Given the description of an element on the screen output the (x, y) to click on. 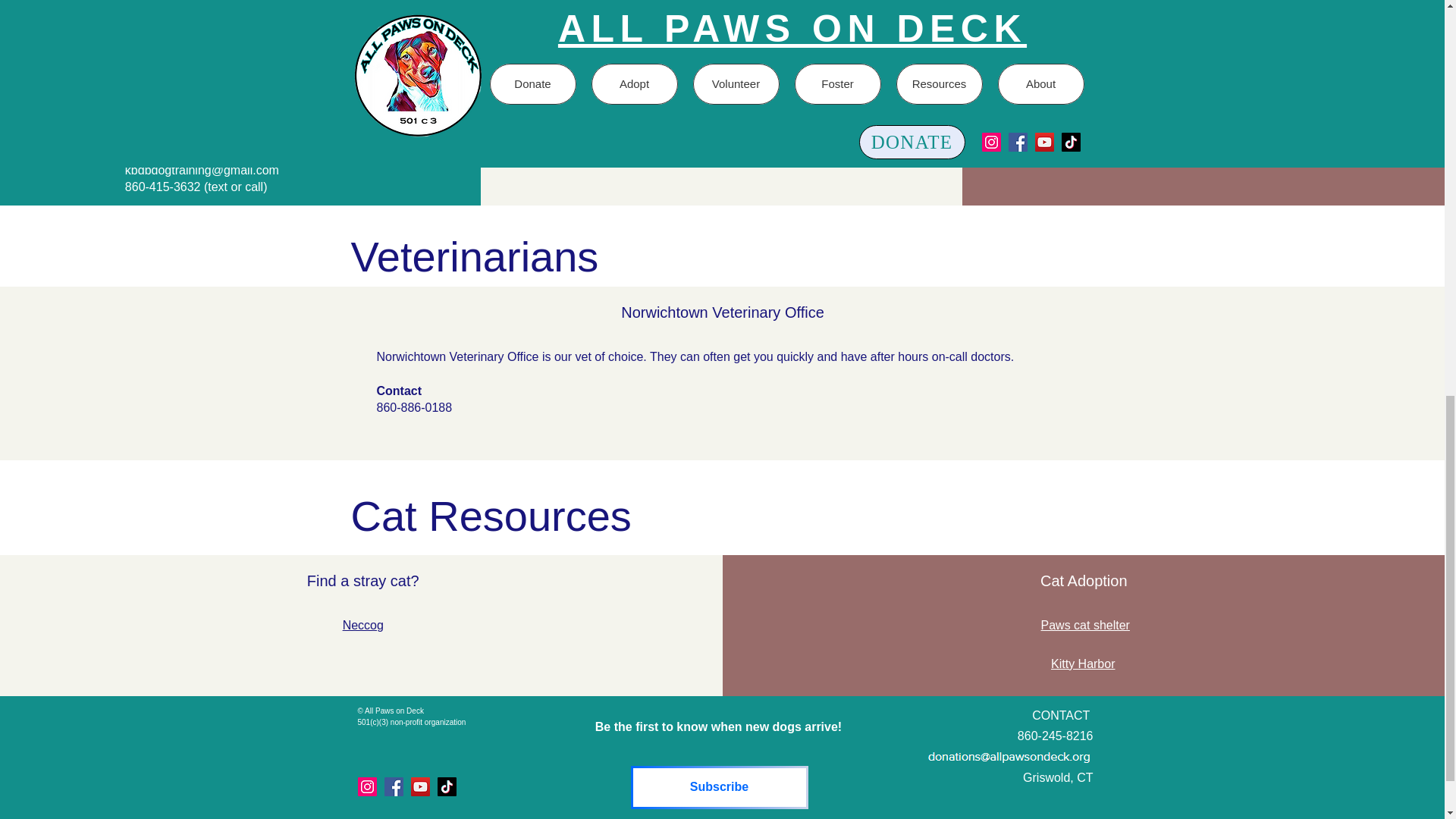
Kitty Harbor (1083, 663)
Subscribe (719, 787)
Paws cat shelter (1085, 625)
Neccog (363, 625)
